Given the description of an element on the screen output the (x, y) to click on. 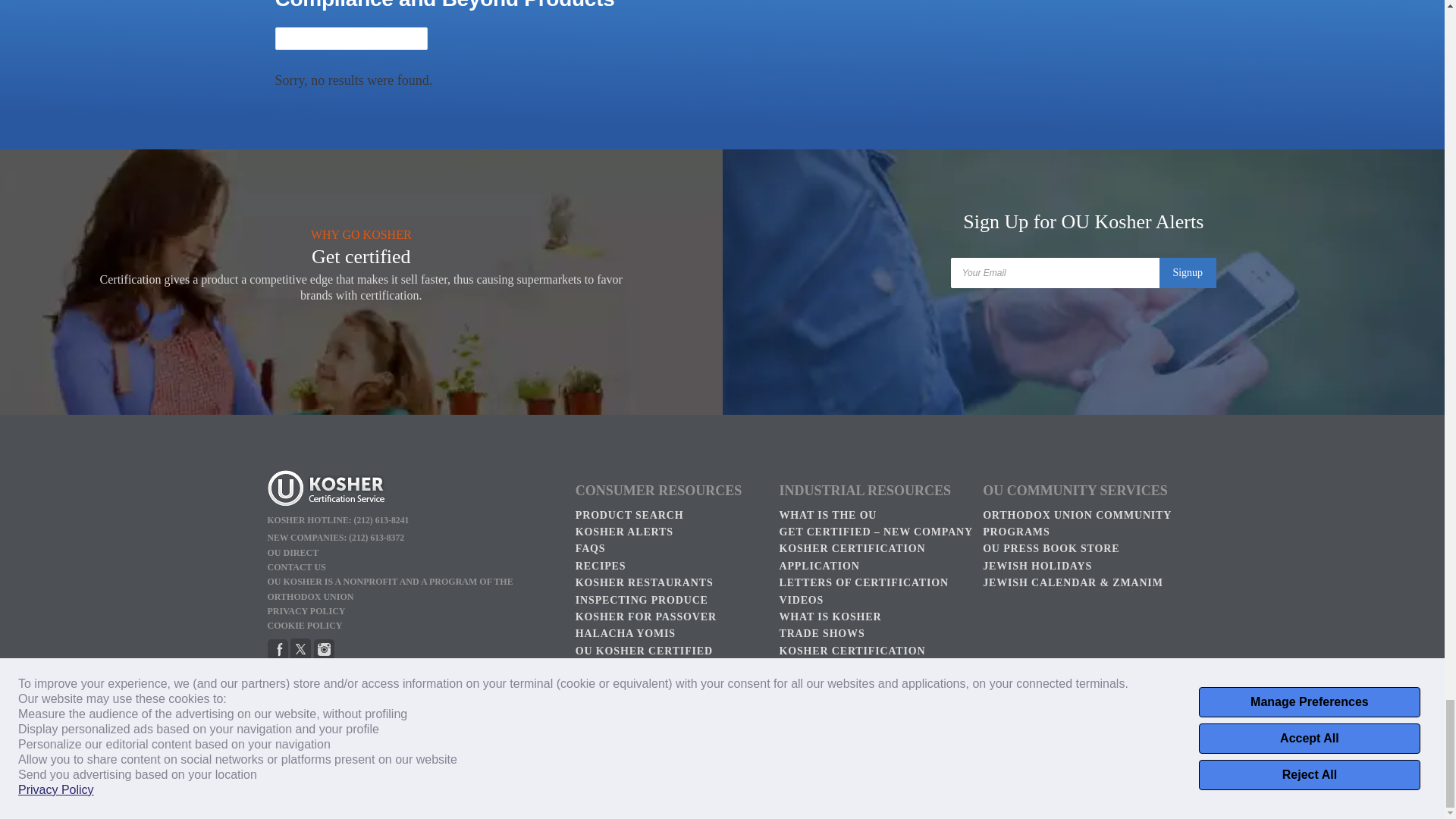
OU Kosher (413, 490)
OU Kosher (324, 656)
OU Kosher (276, 656)
OU Kosher (300, 656)
